Given the description of an element on the screen output the (x, y) to click on. 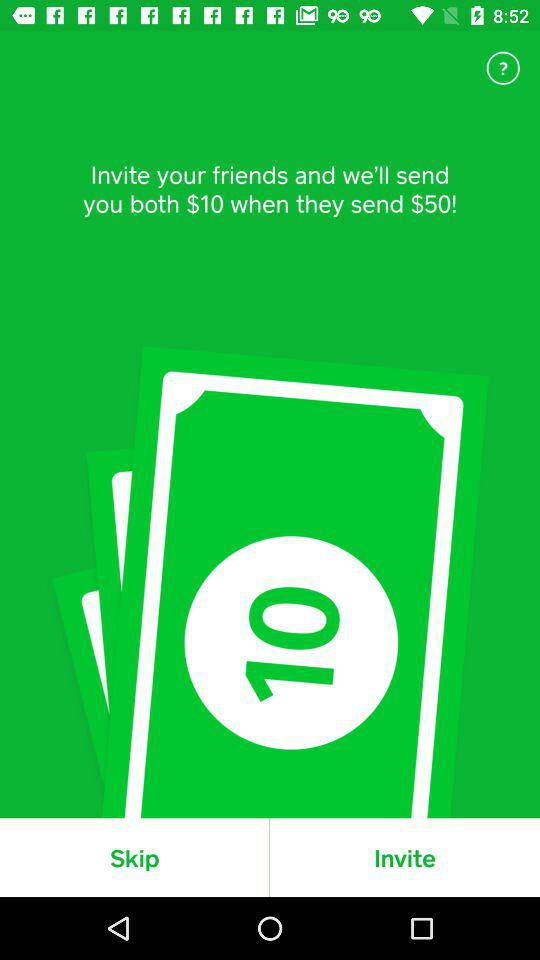
tap skip icon (134, 857)
